Given the description of an element on the screen output the (x, y) to click on. 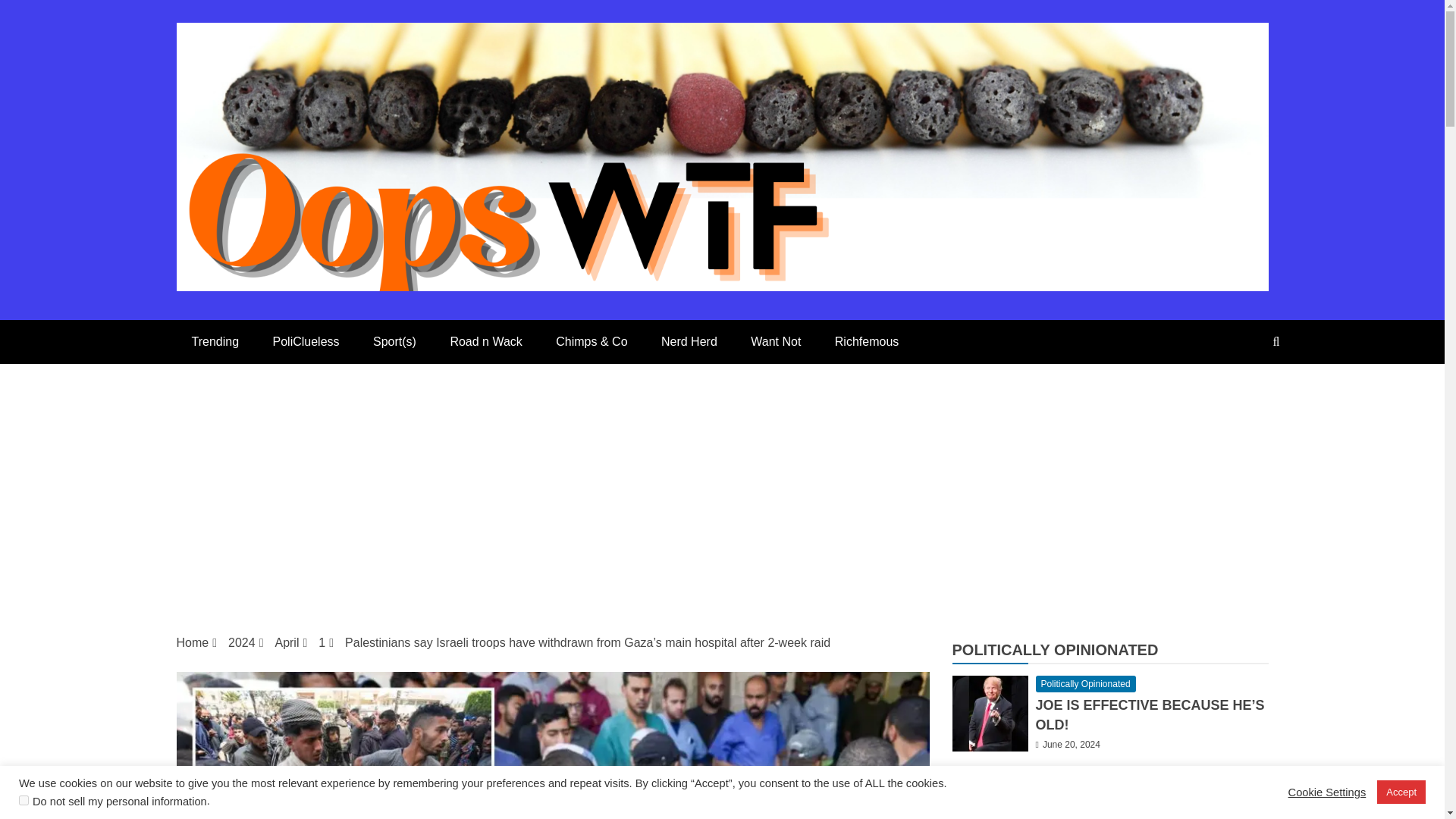
PoliClueless (306, 341)
OOPSWTF (301, 325)
Want Not (775, 341)
Home (192, 642)
Nerd Herd (689, 341)
POLITICALLY OPINIONATED (1055, 649)
Richfemous (866, 341)
2024 (242, 642)
April (286, 642)
Trending (214, 341)
Road n Wack (485, 341)
on (23, 800)
Joe is effective BECAUSE he's old! 5 (989, 713)
